Given the description of an element on the screen output the (x, y) to click on. 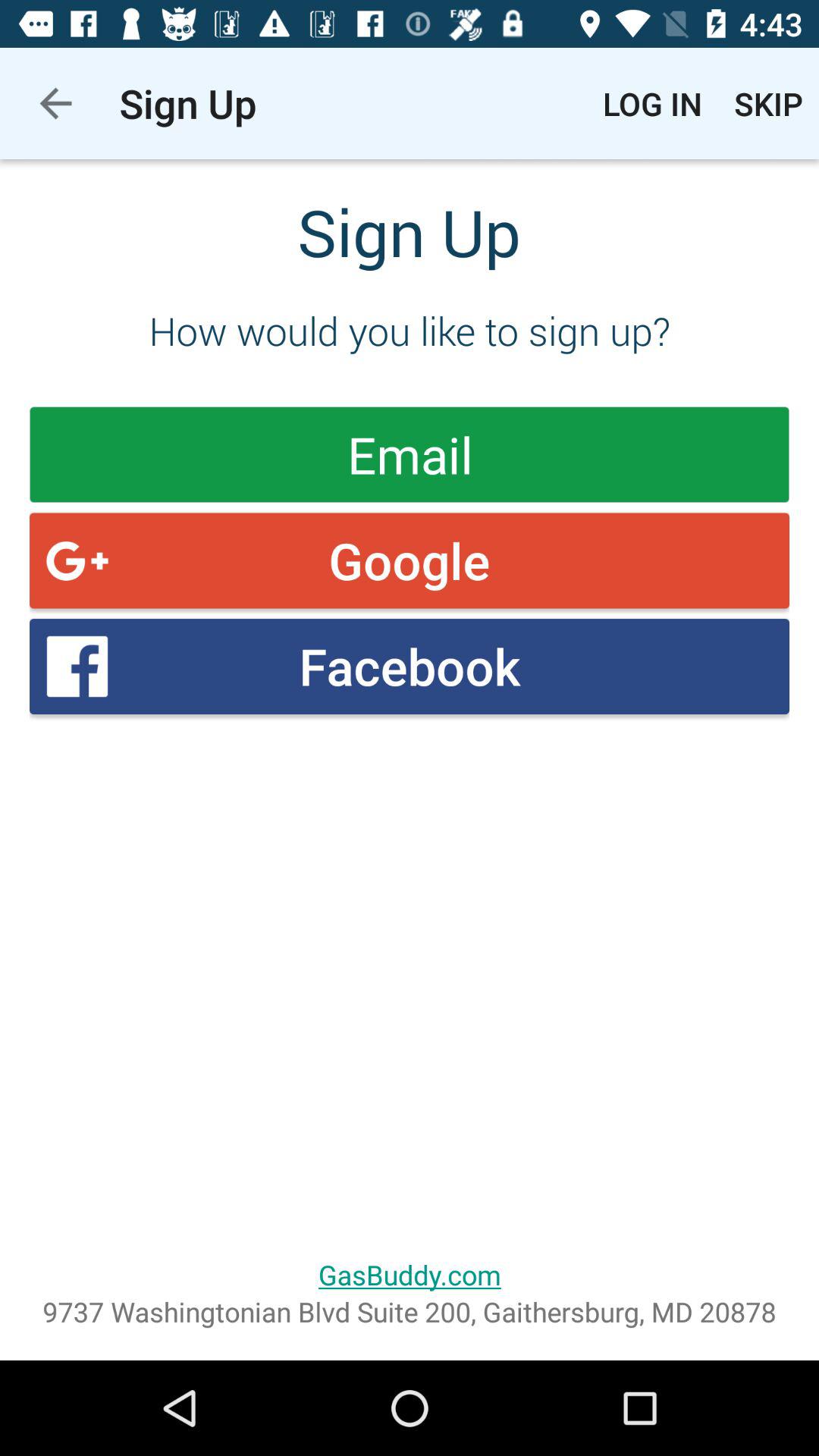
click item to the left of the skip icon (652, 103)
